Given the description of an element on the screen output the (x, y) to click on. 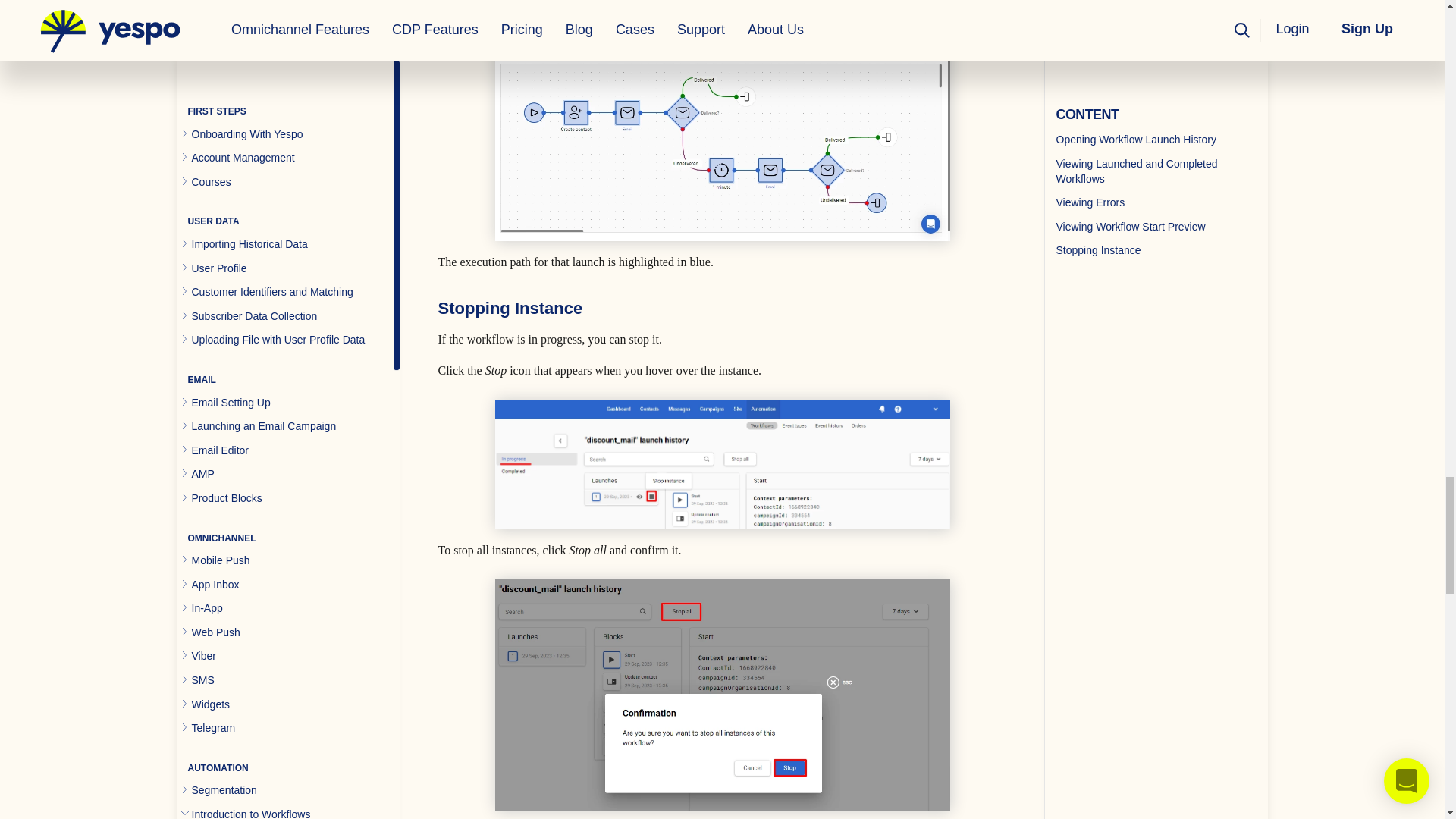
Preview Window (722, 136)
Stopping one instance (722, 464)
Stopping all instances (722, 694)
